Given the description of an element on the screen output the (x, y) to click on. 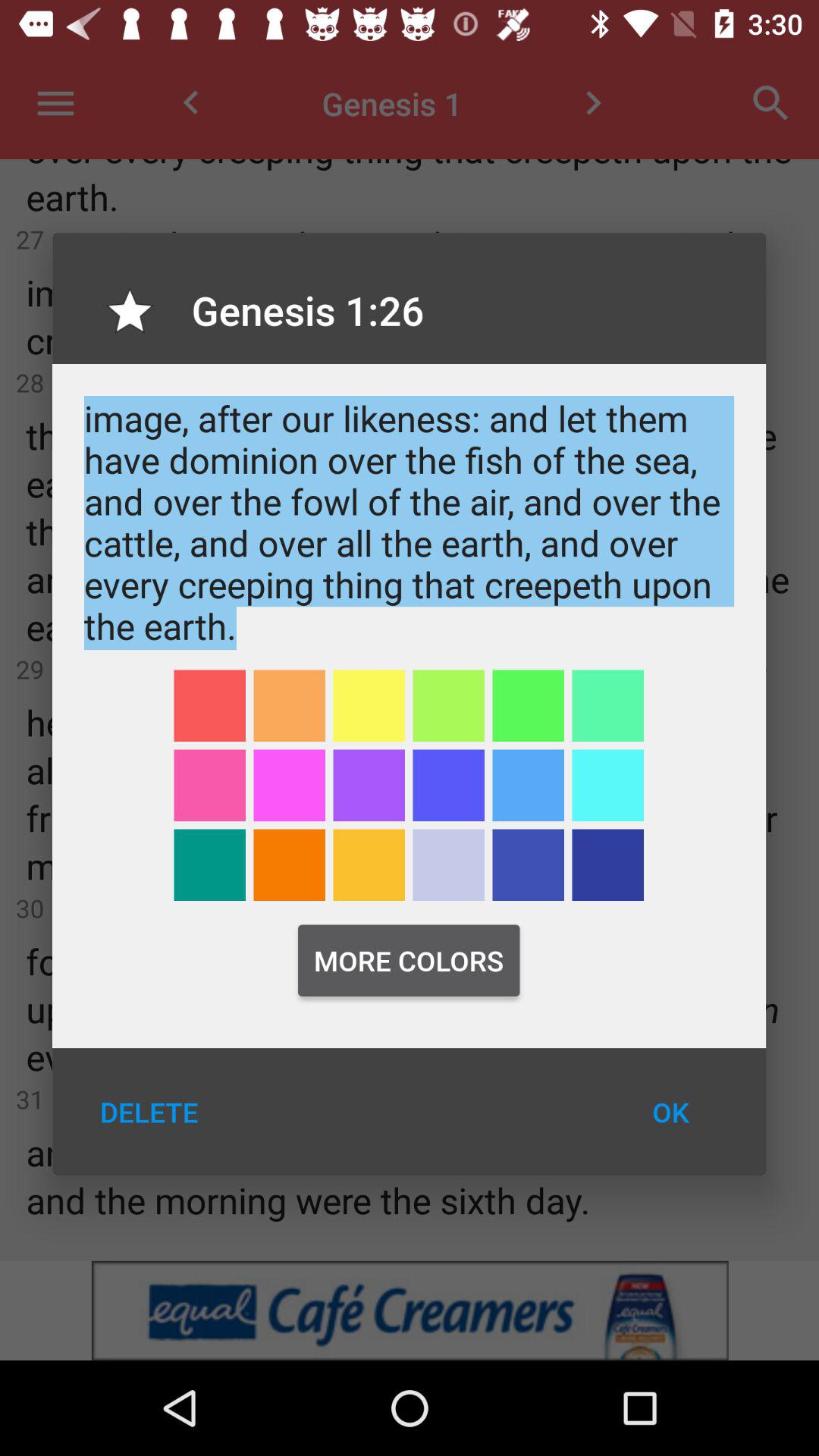
pick the color (528, 785)
